Given the description of an element on the screen output the (x, y) to click on. 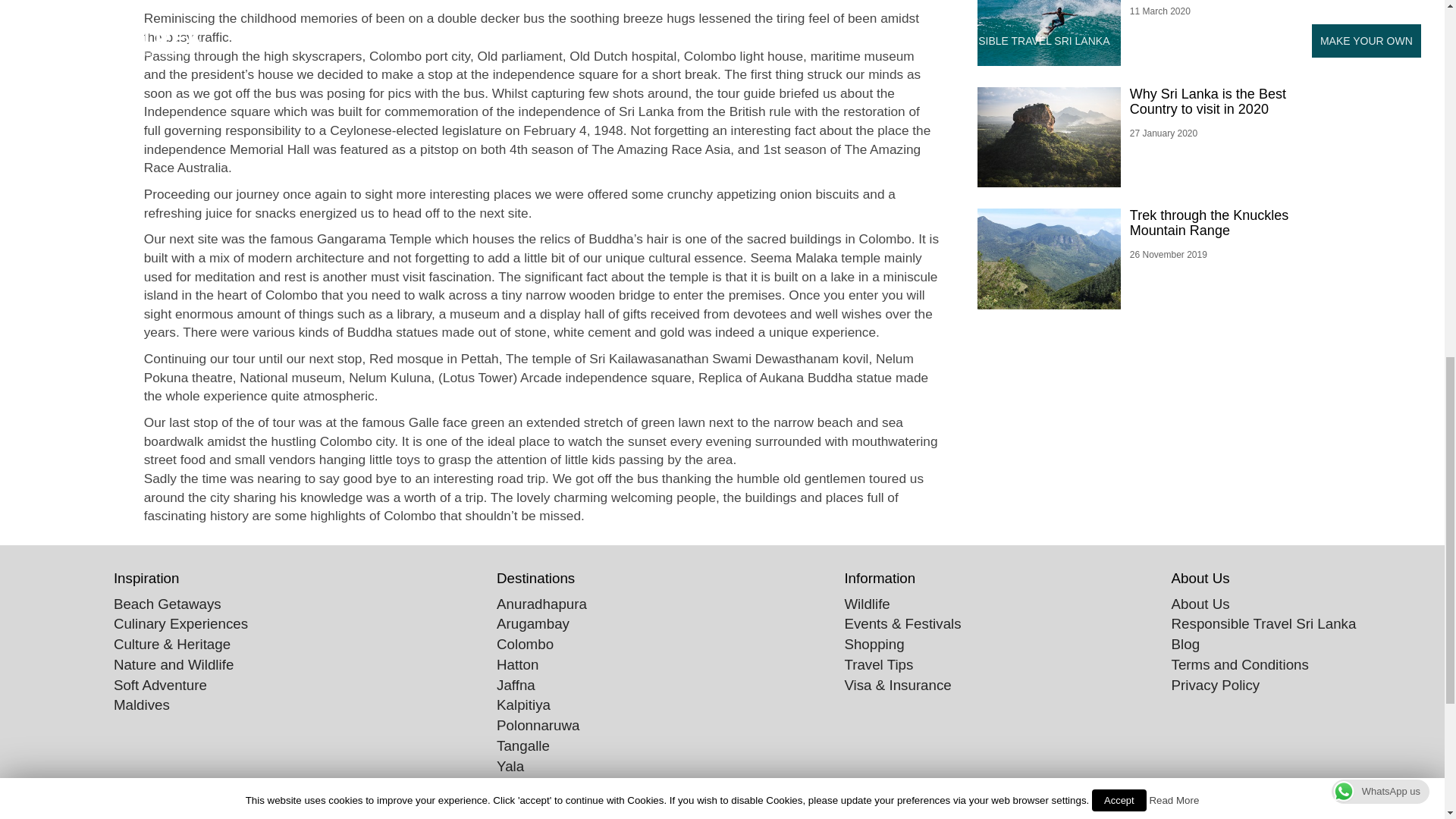
Culinary Experiences (180, 623)
Beach Getaways (167, 603)
Why Sri Lanka is the Best Country to visit in 2020 (1207, 101)
Nature and Wildlife (172, 664)
Trek through the Knuckles Mountain Range (1208, 223)
